Given the description of an element on the screen output the (x, y) to click on. 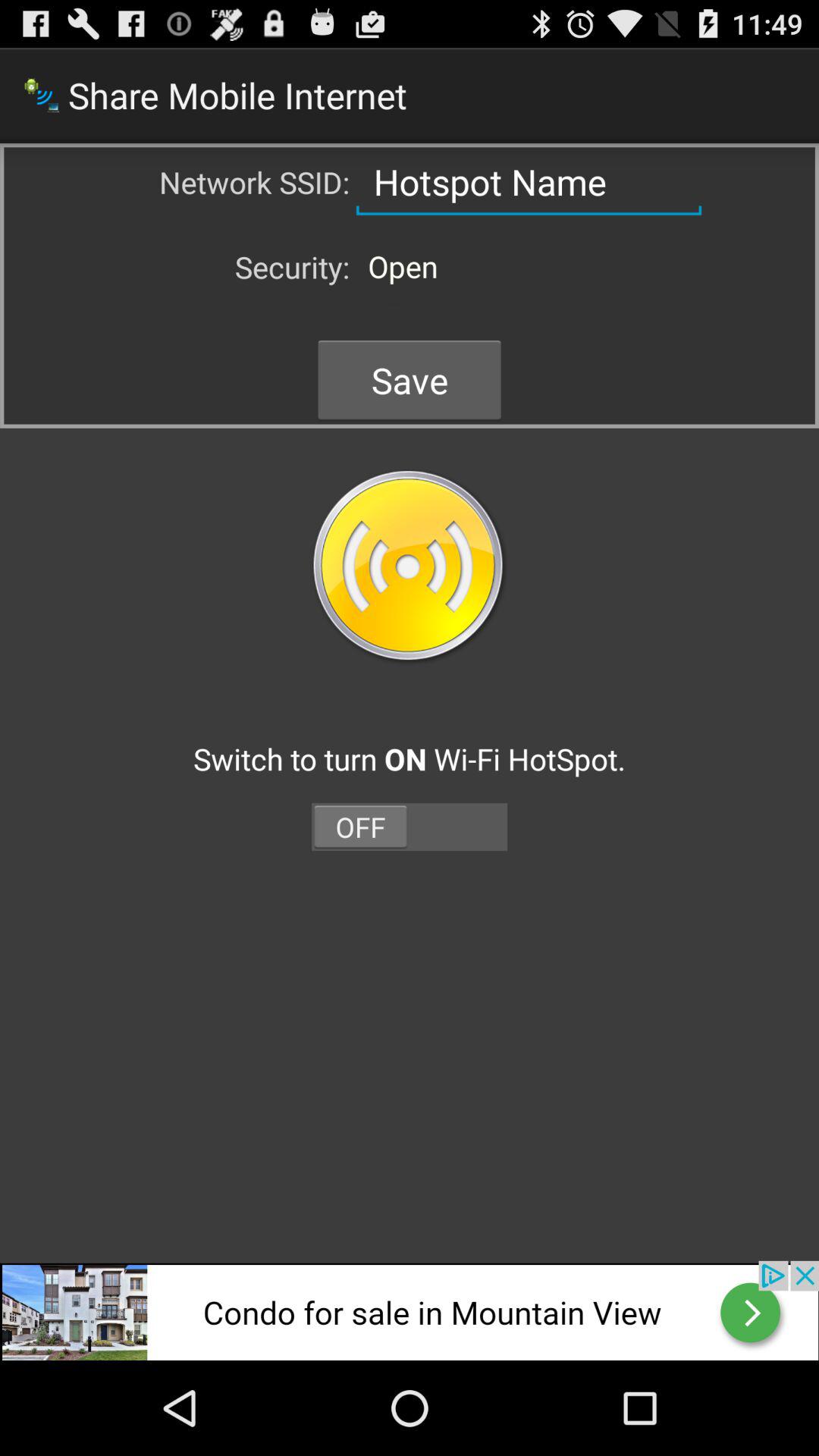
off button (409, 826)
